Given the description of an element on the screen output the (x, y) to click on. 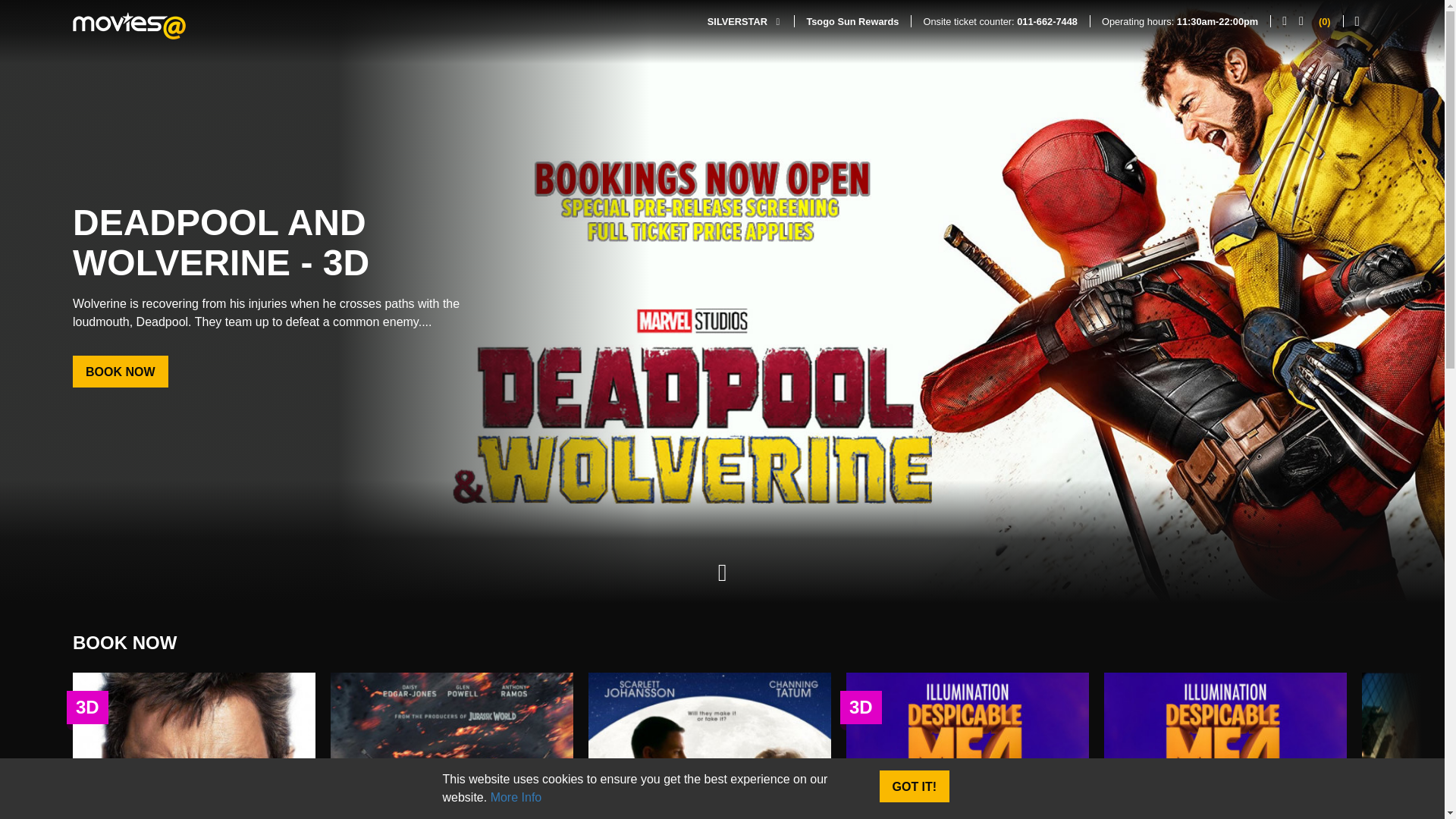
Tsogo Sun Rewards (852, 21)
More Info (515, 797)
011-662-7448 (1046, 21)
BOOK NOW (120, 371)
GOT IT! (914, 786)
